Given the description of an element on the screen output the (x, y) to click on. 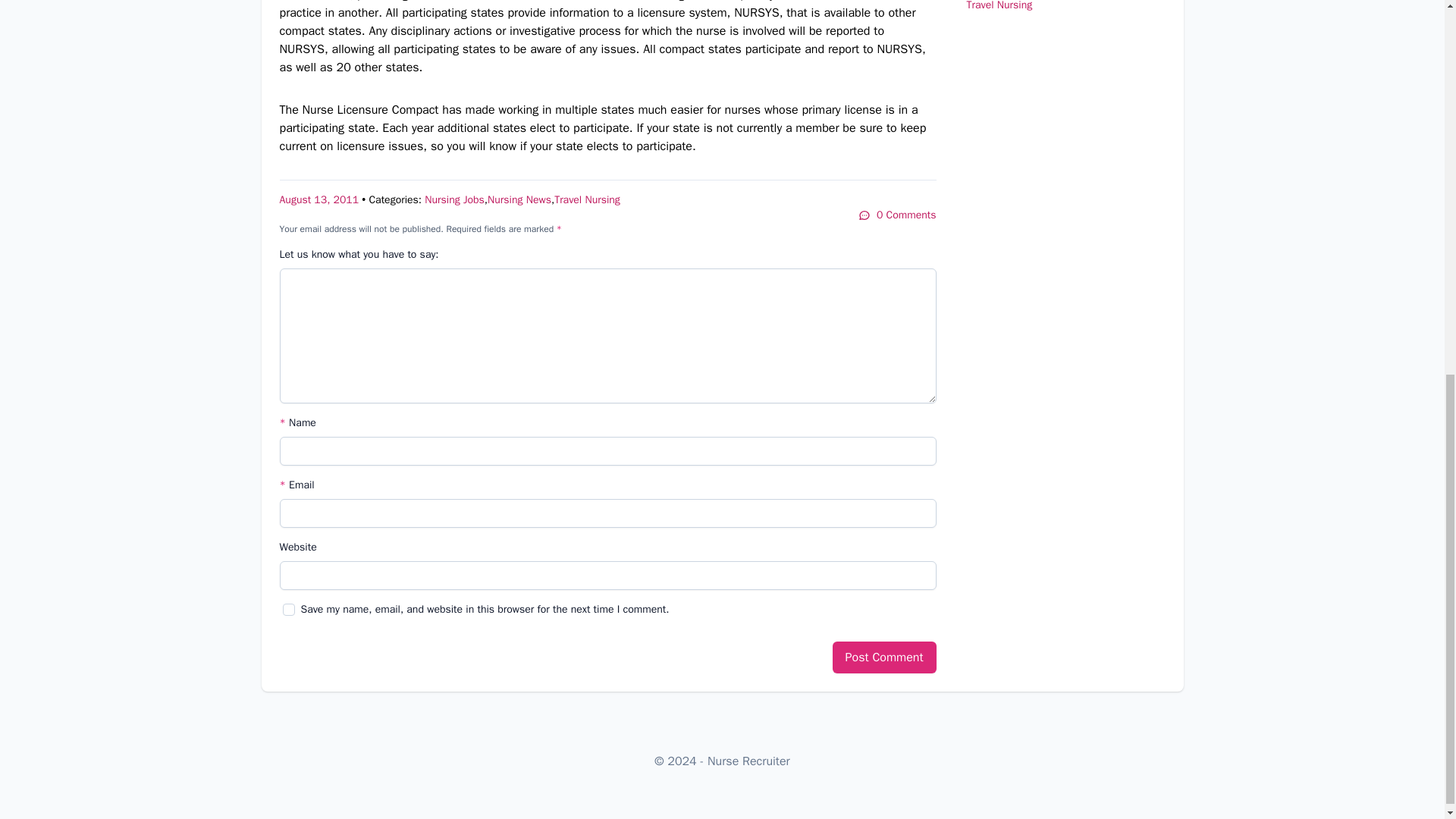
0 Comments (897, 215)
Permalink to Nurse Licensure Compact 101 (318, 199)
Nursing News (519, 199)
Go to comment section (897, 215)
August 13, 2011 (318, 199)
yes (288, 609)
Travel Nursing (587, 199)
Post Comment (884, 657)
Nursing Jobs (454, 199)
